Given the description of an element on the screen output the (x, y) to click on. 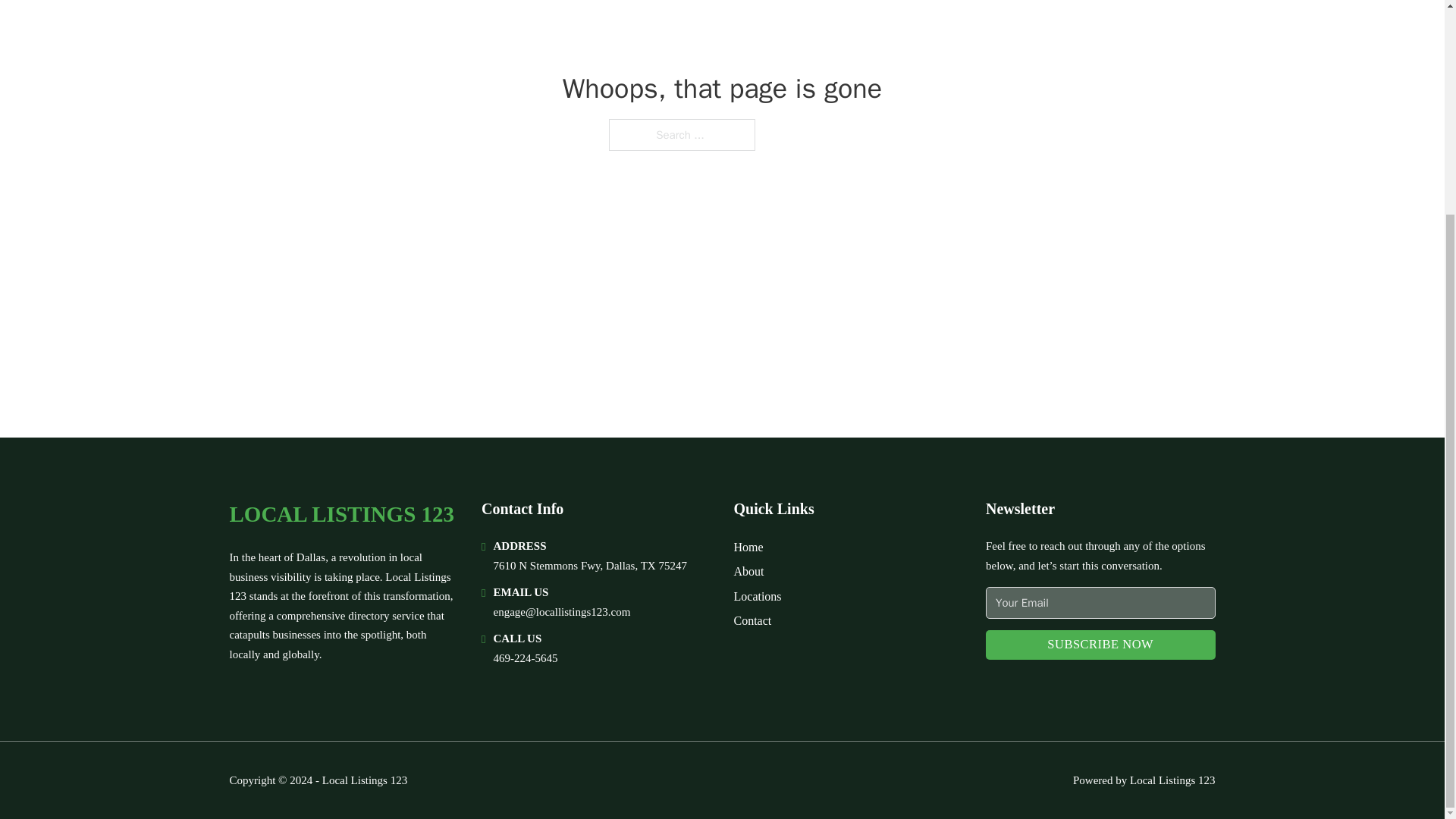
About (748, 571)
SUBSCRIBE NOW (1100, 644)
Locations (757, 596)
LOCAL LISTINGS 123 (341, 514)
Contact (752, 620)
Home (747, 547)
469-224-5645 (525, 657)
